Given the description of an element on the screen output the (x, y) to click on. 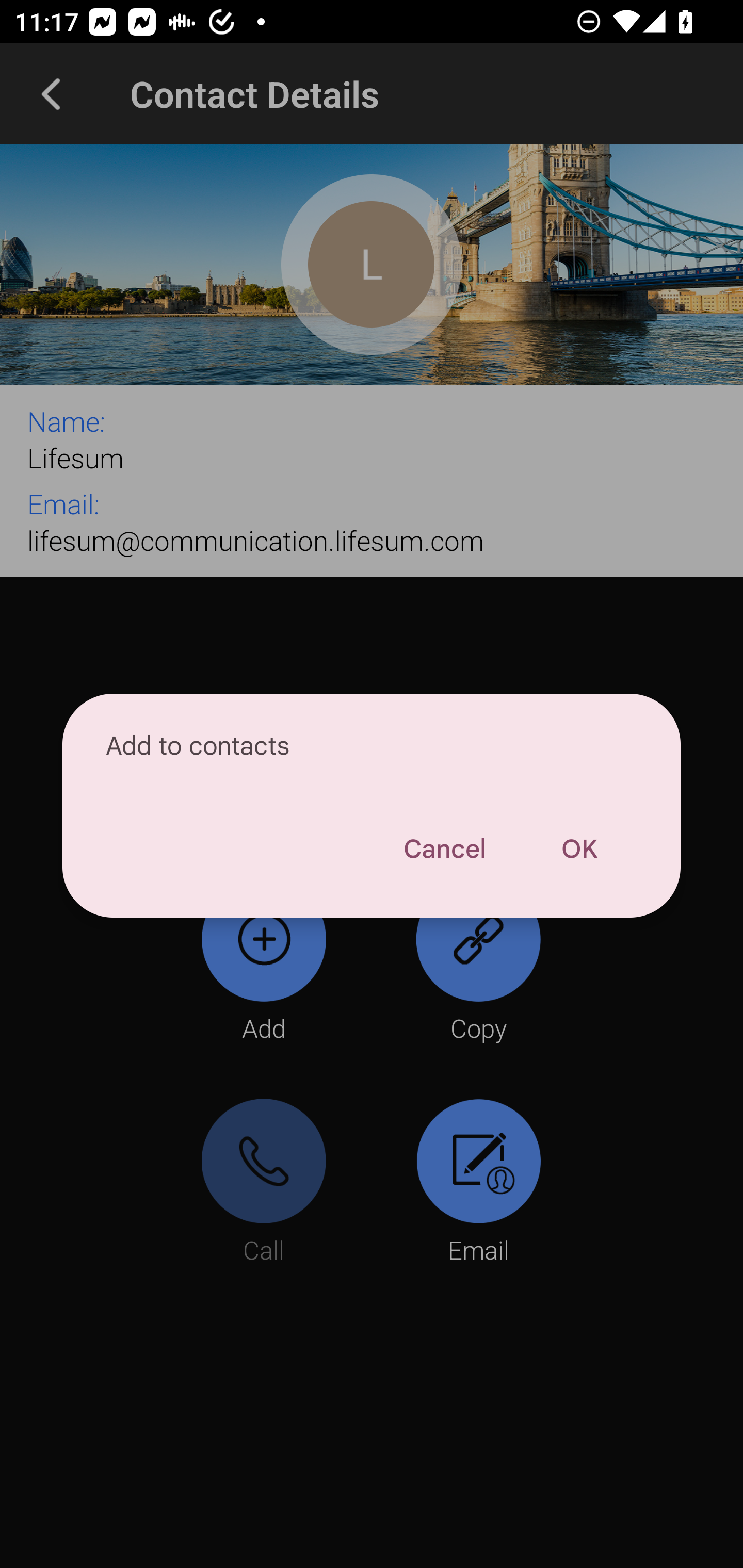
Cancel (444, 848)
OK (579, 848)
